Given the description of an element on the screen output the (x, y) to click on. 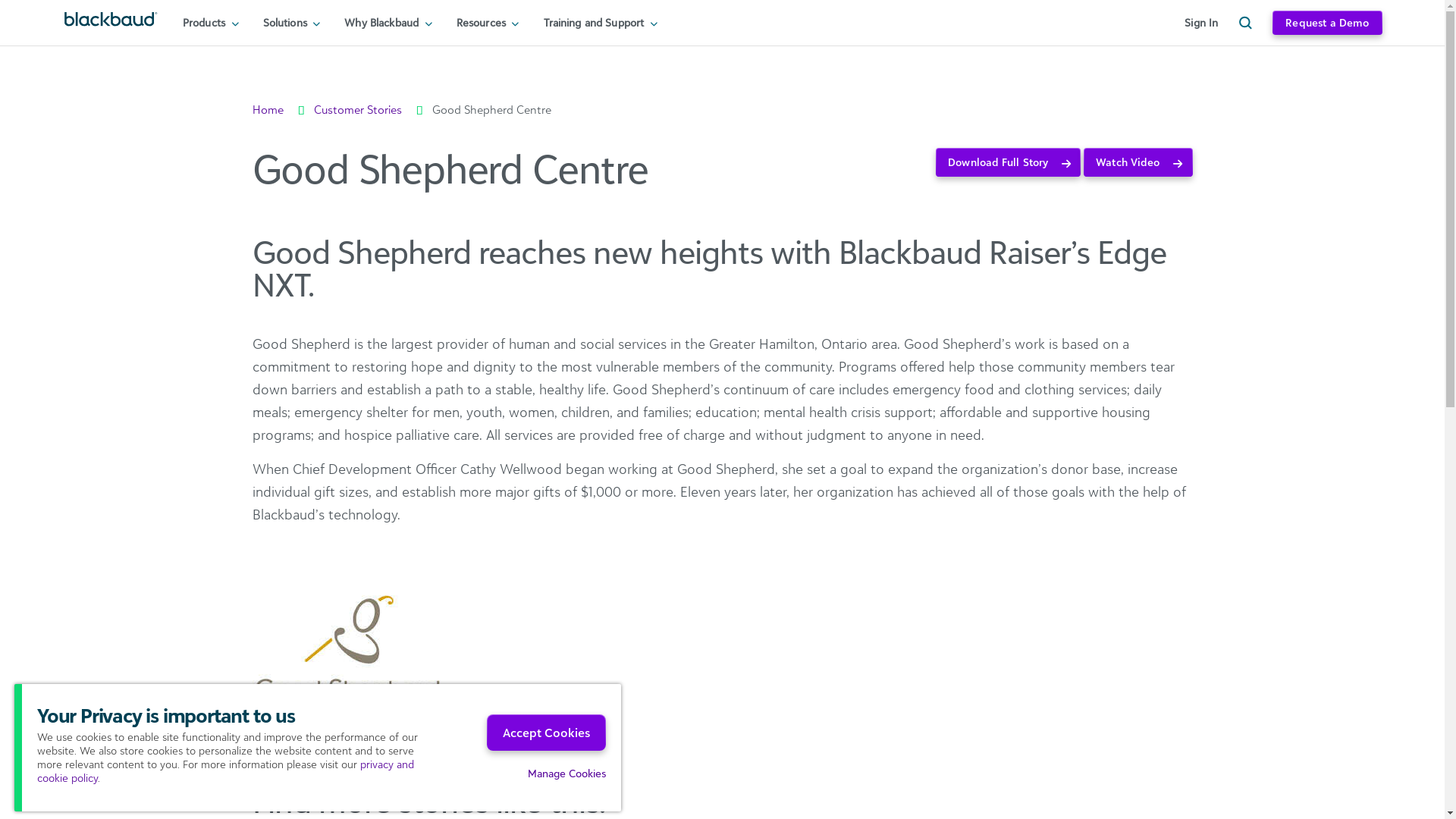
Manage Cookies Element type: text (566, 772)
Watch Video Element type: text (1137, 161)
Accept Cookies Element type: text (545, 732)
privacy and cookie policy Element type: text (225, 770)
Home Element type: text (266, 109)
Customer Stories Element type: text (357, 109)
Sign In Element type: text (1200, 21)
Download Full Story Element type: text (1007, 161)
Request a Demo Element type: text (1326, 22)
